Given the description of an element on the screen output the (x, y) to click on. 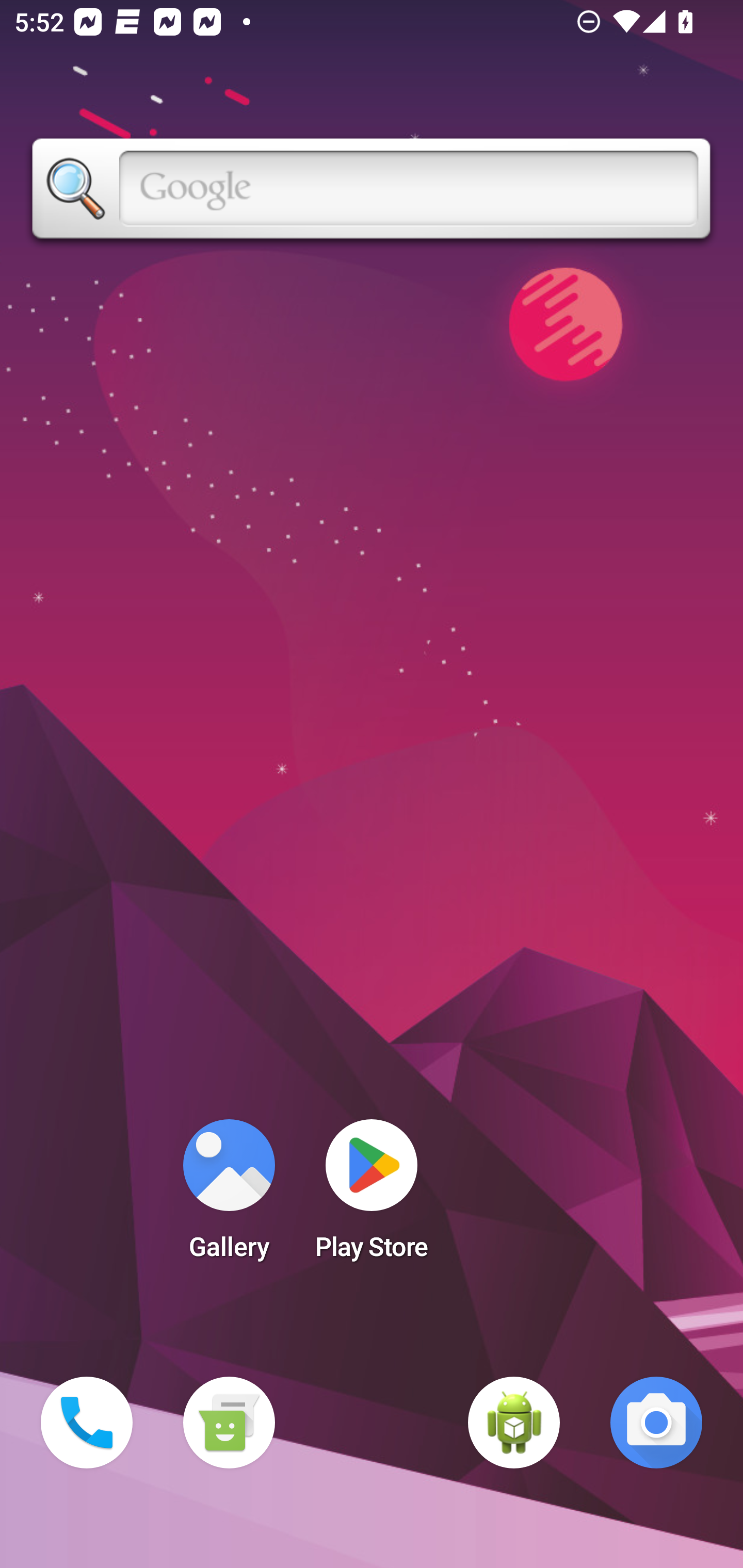
Gallery (228, 1195)
Play Store (371, 1195)
Phone (86, 1422)
Messaging (228, 1422)
WebView Browser Tester (513, 1422)
Camera (656, 1422)
